Given the description of an element on the screen output the (x, y) to click on. 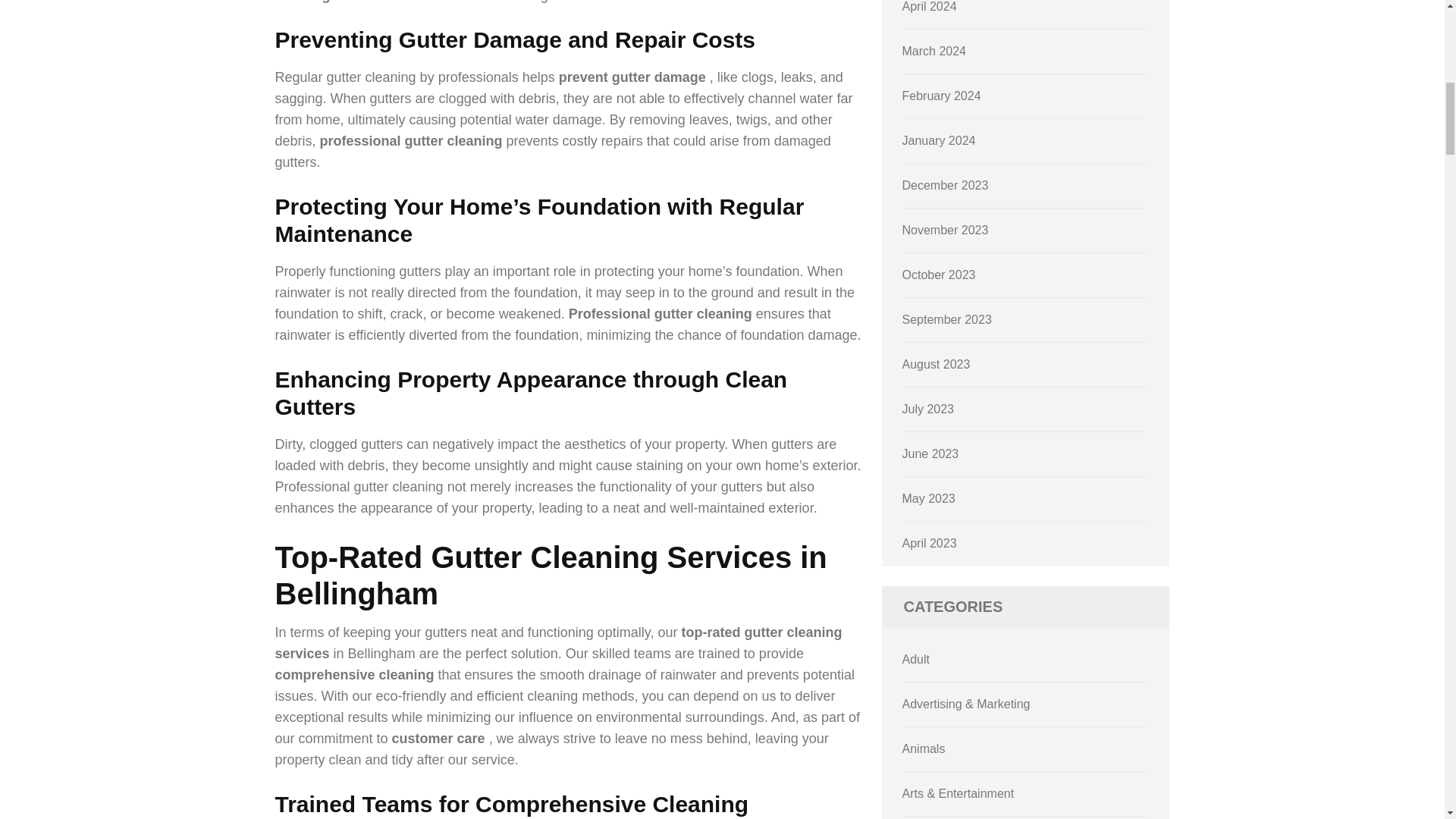
March 2024 (934, 51)
January 2024 (938, 140)
May 2023 (928, 498)
Adult (916, 658)
April 2023 (929, 543)
June 2023 (930, 453)
August 2023 (936, 364)
July 2023 (928, 408)
February 2024 (941, 95)
December 2023 (945, 185)
October 2023 (938, 274)
September 2023 (946, 318)
November 2023 (945, 229)
April 2024 (929, 6)
